Given the description of an element on the screen output the (x, y) to click on. 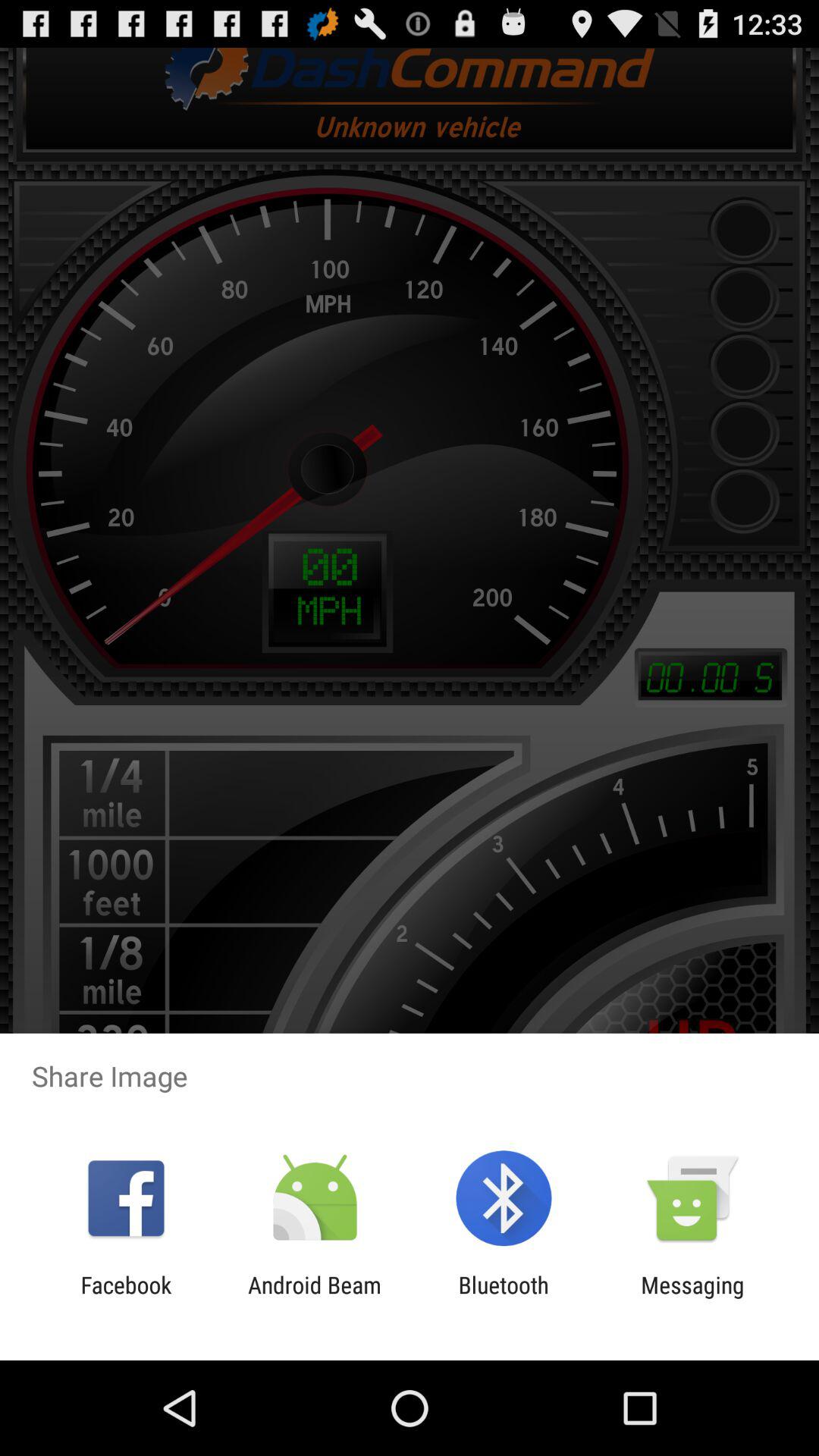
choose icon to the right of facebook app (314, 1298)
